Given the description of an element on the screen output the (x, y) to click on. 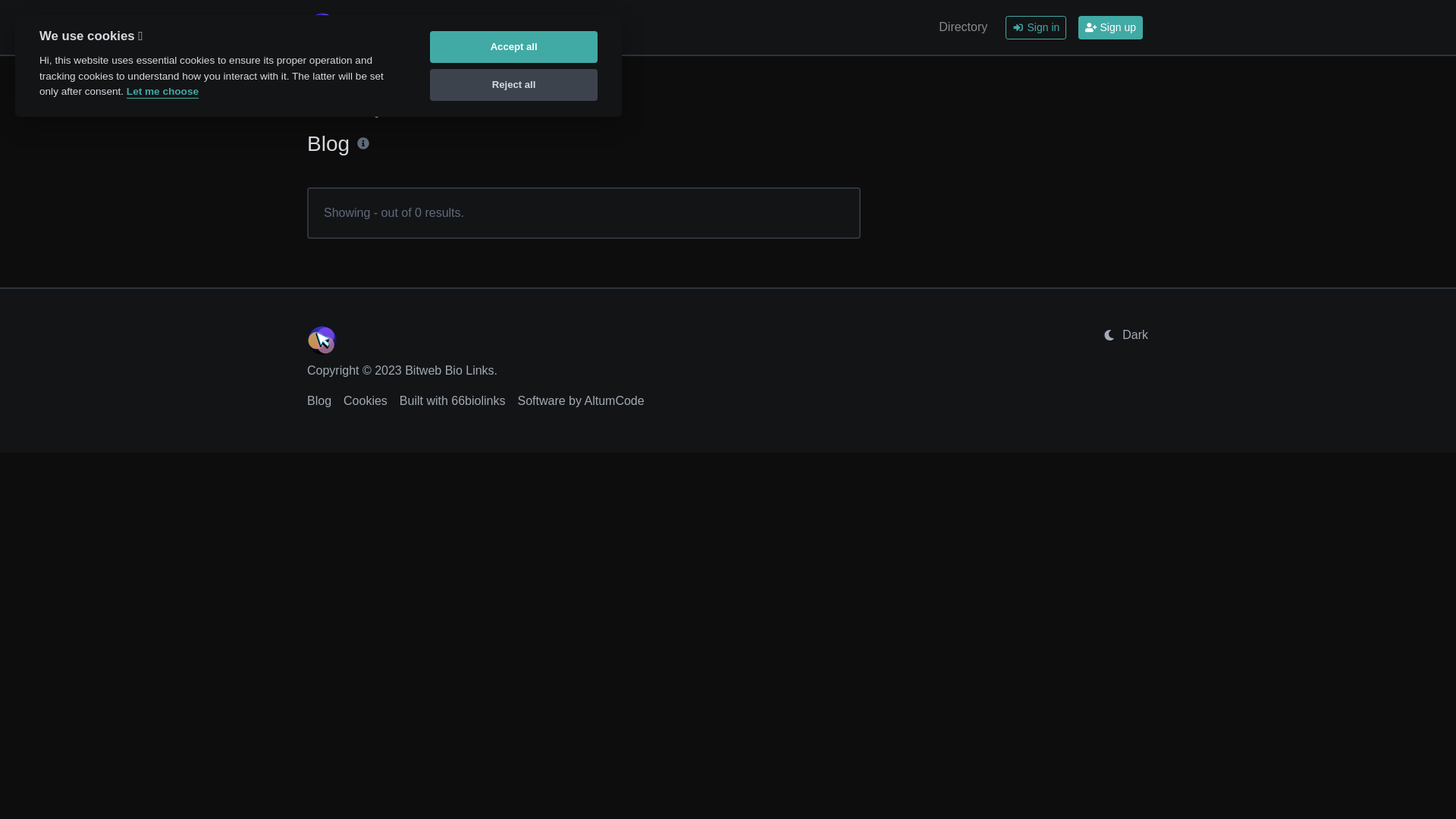
Directory Element type: text (962, 27)
Dark Element type: text (1124, 335)
Let me choose Element type: text (162, 91)
Built with 66biolinks Element type: text (452, 400)
Reject all Element type: text (513, 84)
Software by AltumCode Element type: text (580, 400)
Home Element type: text (319, 111)
Sign up Element type: text (1110, 26)
Accept all Element type: text (513, 46)
Sign in Element type: text (1035, 26)
Blog Element type: text (319, 400)
Cookies Element type: text (365, 400)
